Given the description of an element on the screen output the (x, y) to click on. 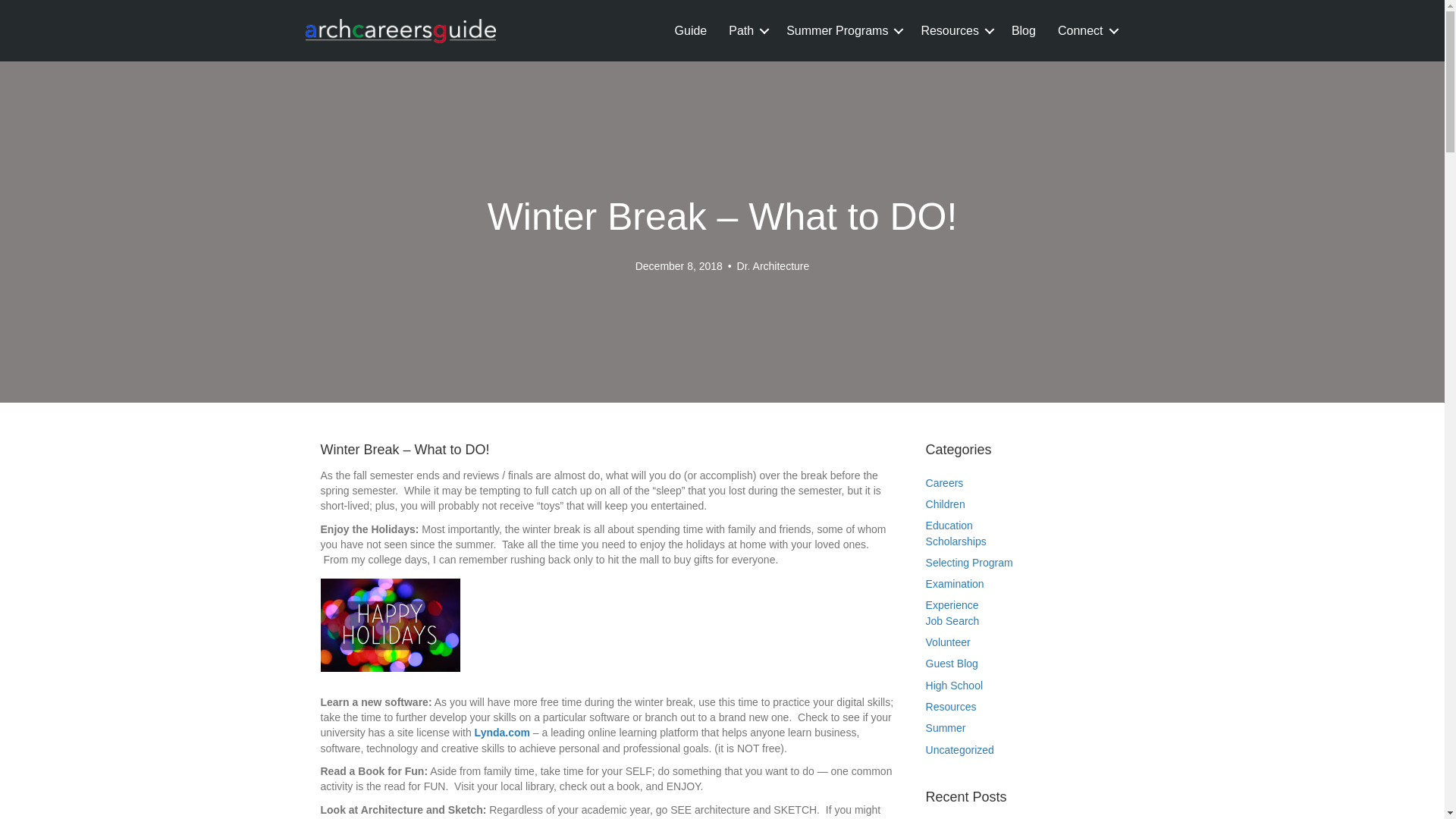
Lynda.com (501, 732)
Resources (954, 30)
Summer Programs (842, 30)
Path (745, 30)
Dr. Architecture (772, 265)
Guide (690, 30)
Connect (1085, 30)
Blog (1023, 30)
